Given the description of an element on the screen output the (x, y) to click on. 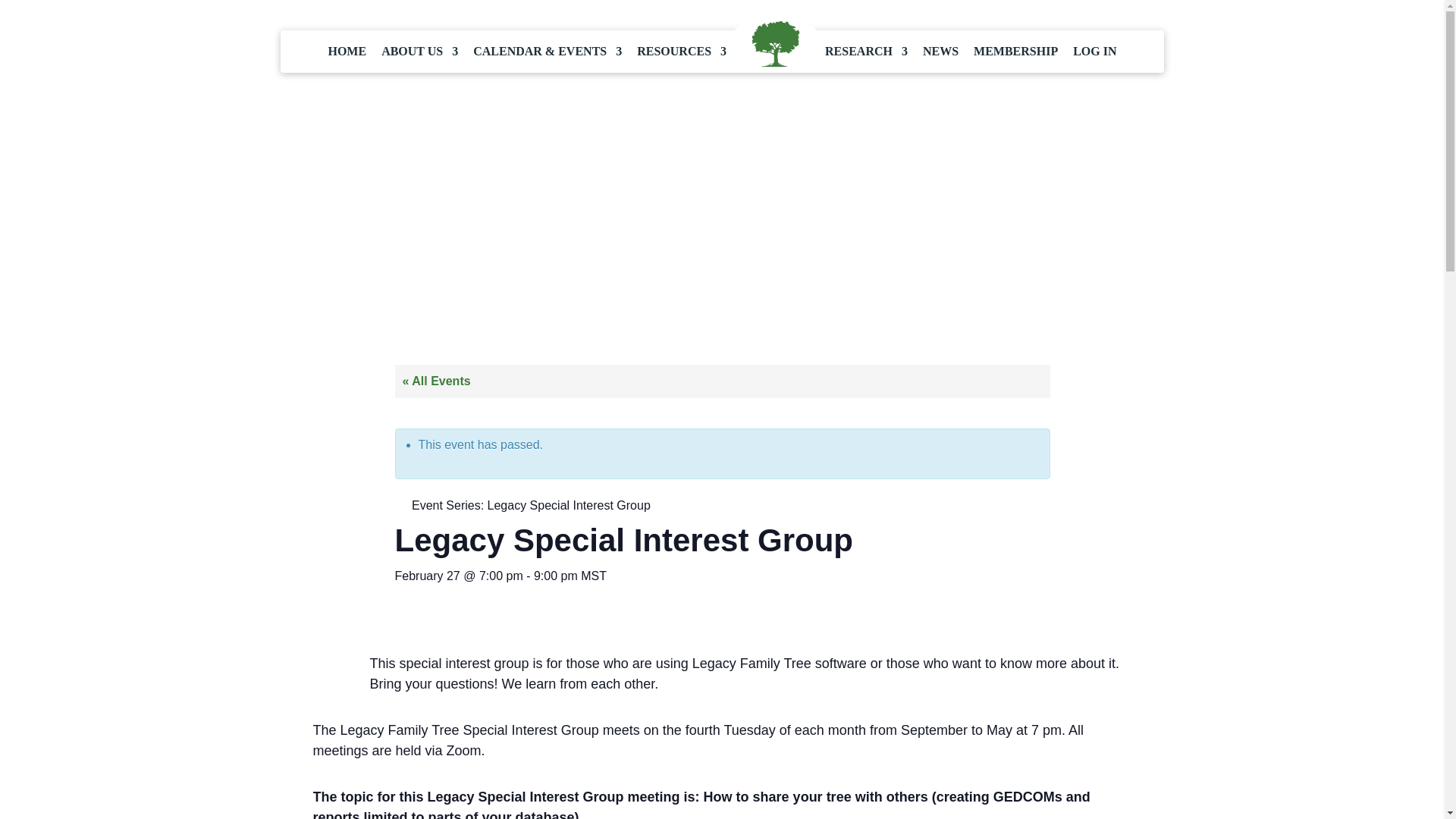
LOGO SPACER (775, 45)
HOME (346, 51)
LOG IN (1094, 51)
Event Series (399, 504)
RESEARCH (866, 51)
Legacy Special Interest Group (568, 504)
RESOURCES (681, 51)
ABOUT US (419, 51)
MEMBERSHIP (1016, 51)
